Given the description of an element on the screen output the (x, y) to click on. 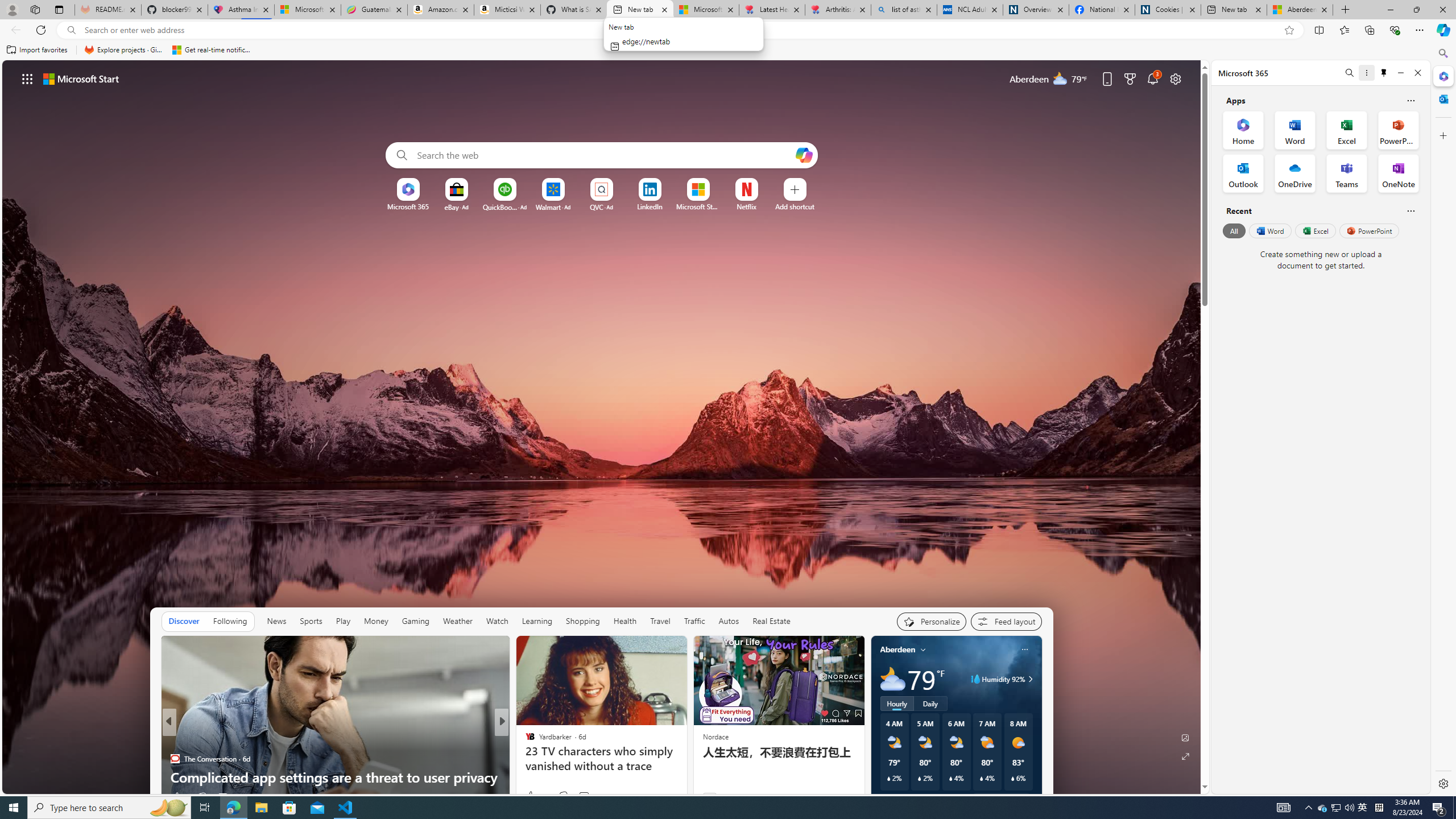
Health (624, 621)
8 Like (529, 796)
20 Like (530, 796)
Expand background (1185, 756)
Metro (524, 740)
Watch (496, 621)
Close Customize pane (1442, 135)
PowerPoint Office App (1398, 129)
